Given the description of an element on the screen output the (x, y) to click on. 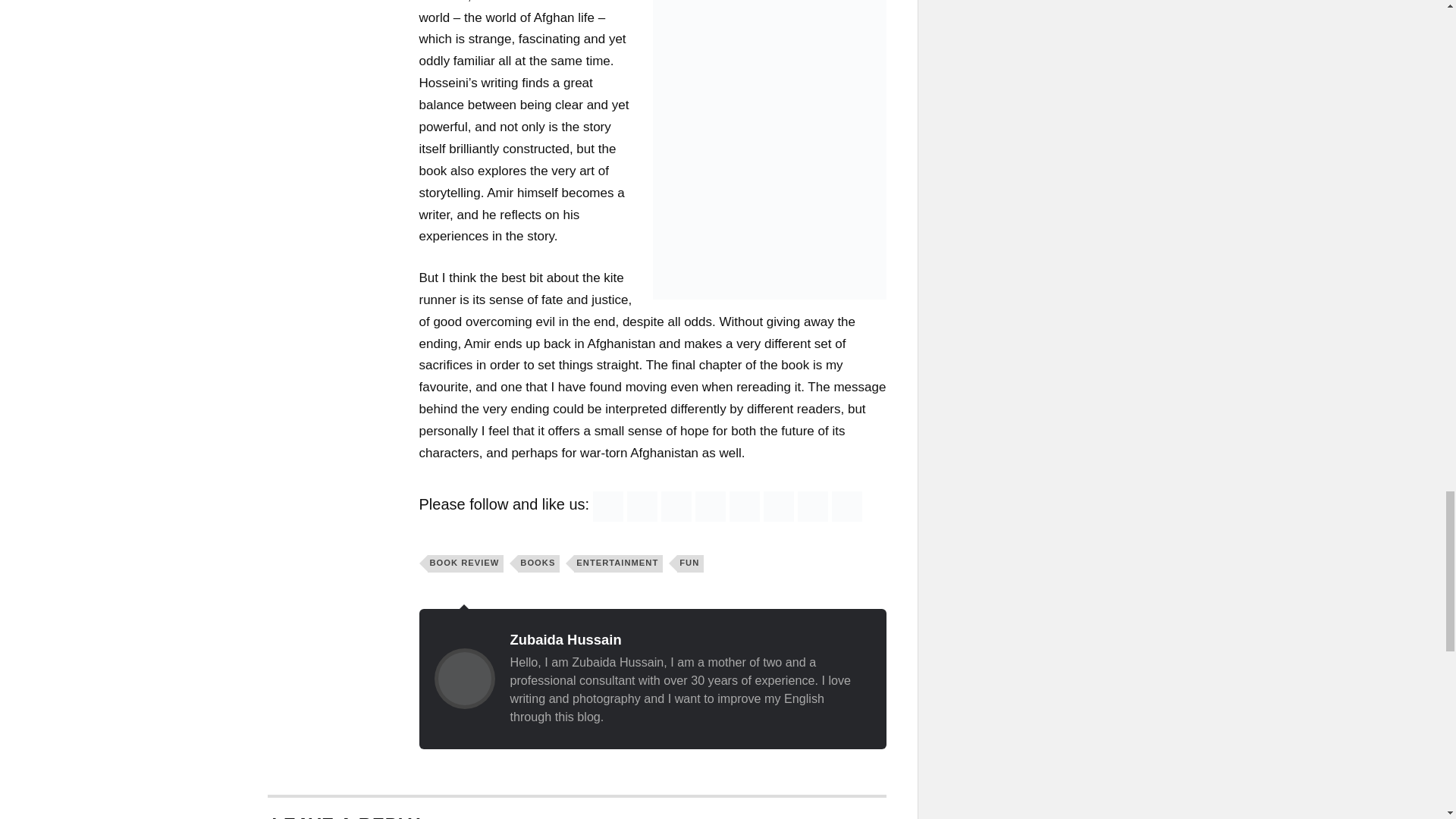
RSS (607, 506)
Pinterest (744, 506)
Facebook (676, 506)
LinkedIn (777, 506)
Follow by Email (642, 506)
Instagram (812, 506)
